Given the description of an element on the screen output the (x, y) to click on. 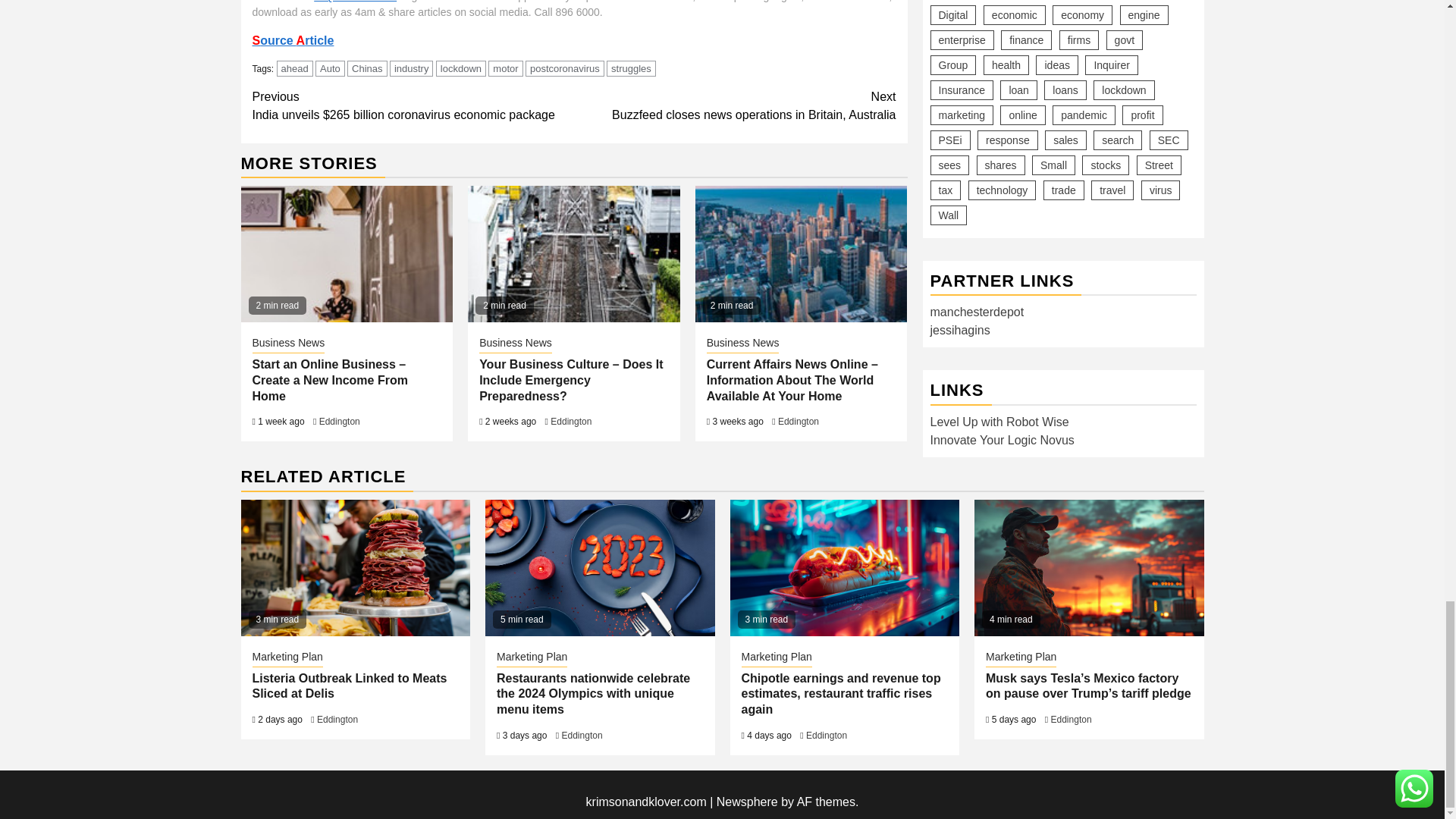
lockdown (460, 68)
ahead (294, 68)
industry (411, 68)
Chinas (367, 68)
Source Article (292, 40)
postcoronavirus (564, 68)
struggles (631, 68)
Auto (330, 68)
INQUIRER PLUS (734, 105)
motor (355, 1)
